Given the description of an element on the screen output the (x, y) to click on. 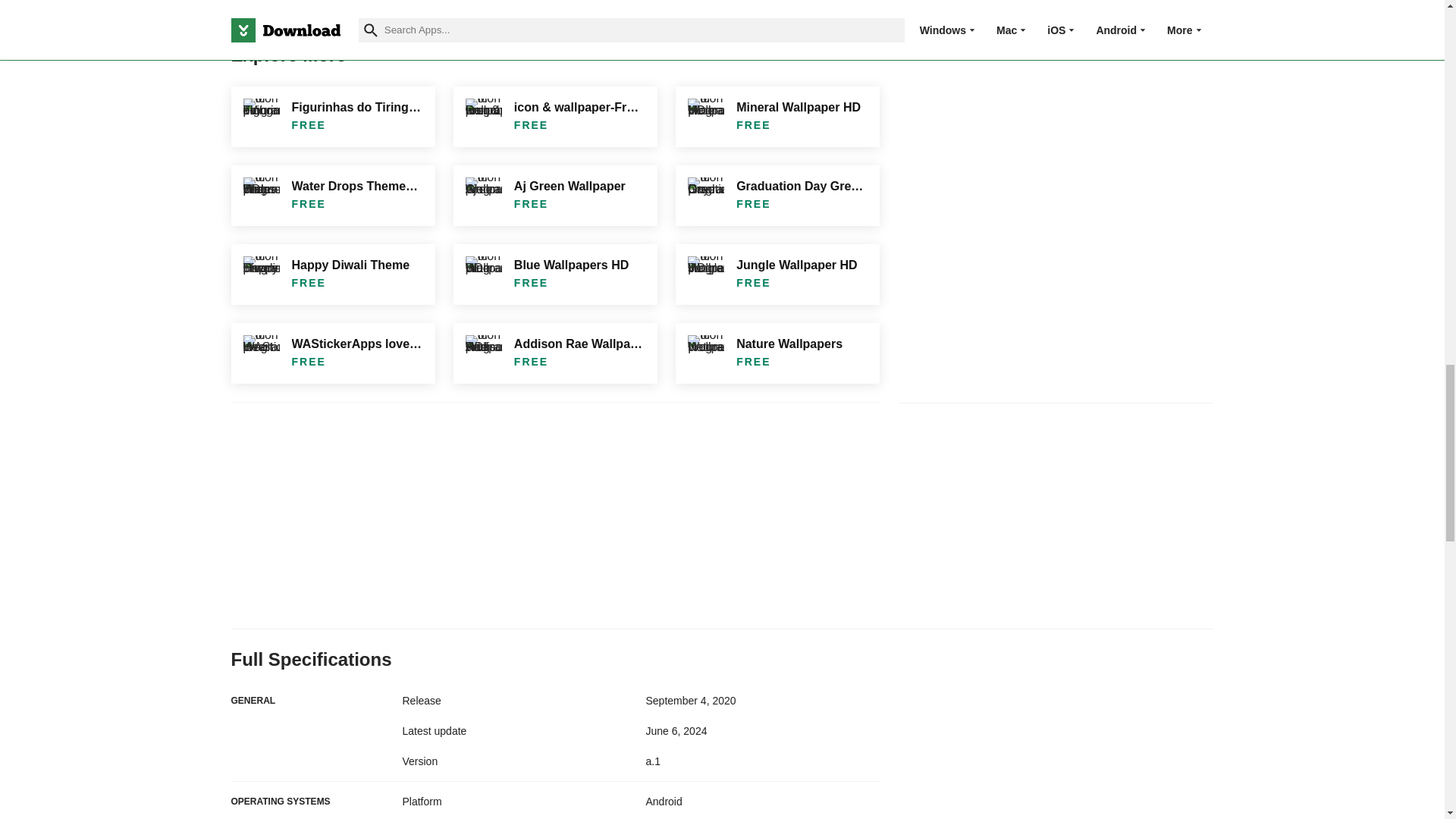
Jungle Wallpaper HD (777, 274)
Nature Wallpapers (777, 353)
Mineral Wallpaper HD (777, 116)
Blue Wallpapers HD (555, 274)
Aj Green Wallpaper (555, 195)
Happy Diwali Theme (331, 274)
Water Drops Themes HD Wallpapers 3D icons (331, 195)
WAStickerApps love  Heart Stickers 2020 (331, 353)
Figurinhas do Tiringa - WAStickerApps (331, 116)
Graduation Day Greeting Cards (777, 195)
Addison Rae Wallpaper HD (555, 353)
